Given the description of an element on the screen output the (x, y) to click on. 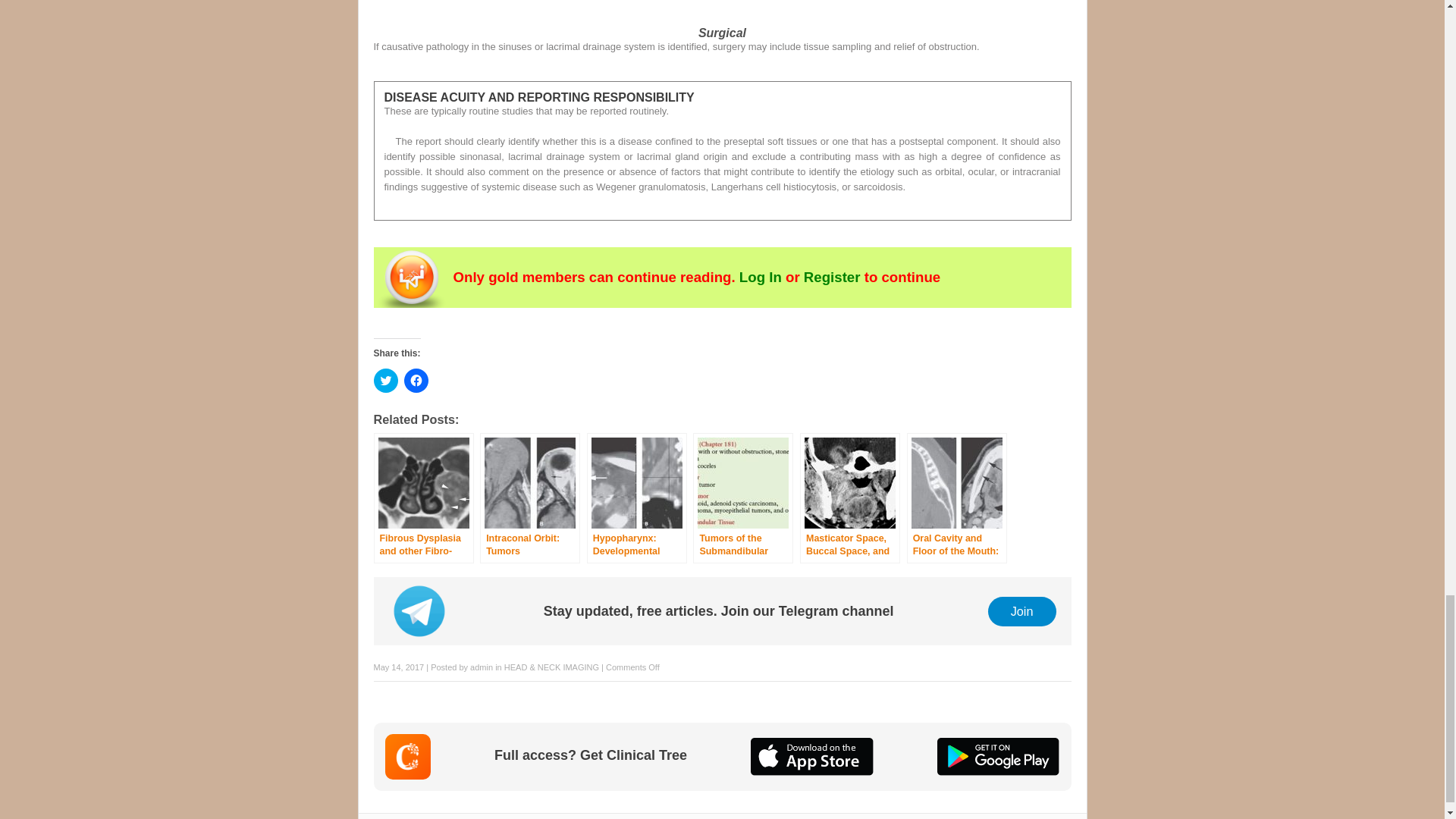
Intraconal Orbit: Tumors (529, 498)
Oral Cavity and Floor of the Mouth: Malignant Tumors (957, 498)
Click to share on Twitter (384, 380)
Click to share on Facebook (415, 380)
Hypopharynx: Developmental Abnormalities (636, 498)
Posts by admin (481, 666)
